Given the description of an element on the screen output the (x, y) to click on. 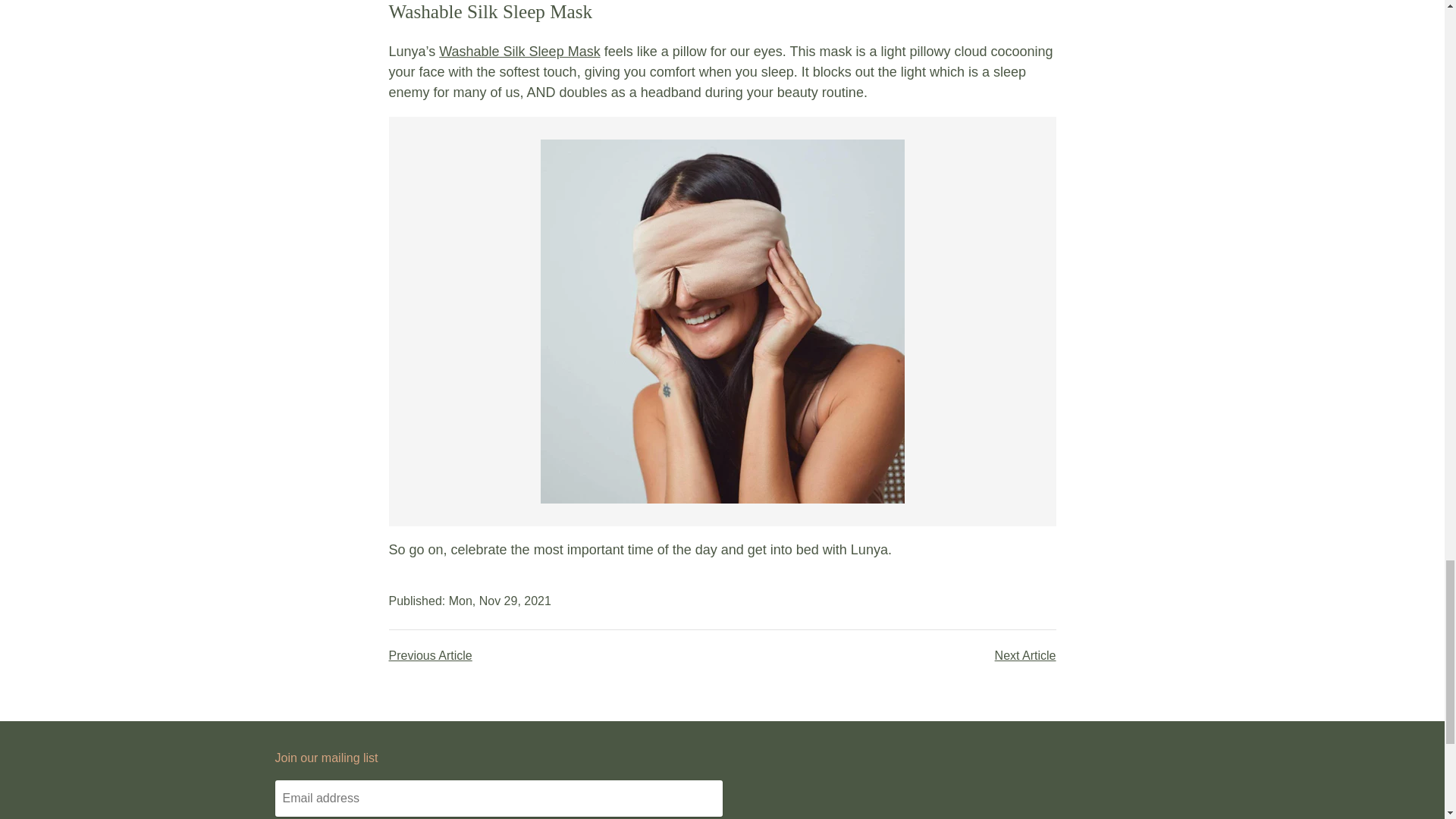
silk eye mask (519, 51)
